Given the description of an element on the screen output the (x, y) to click on. 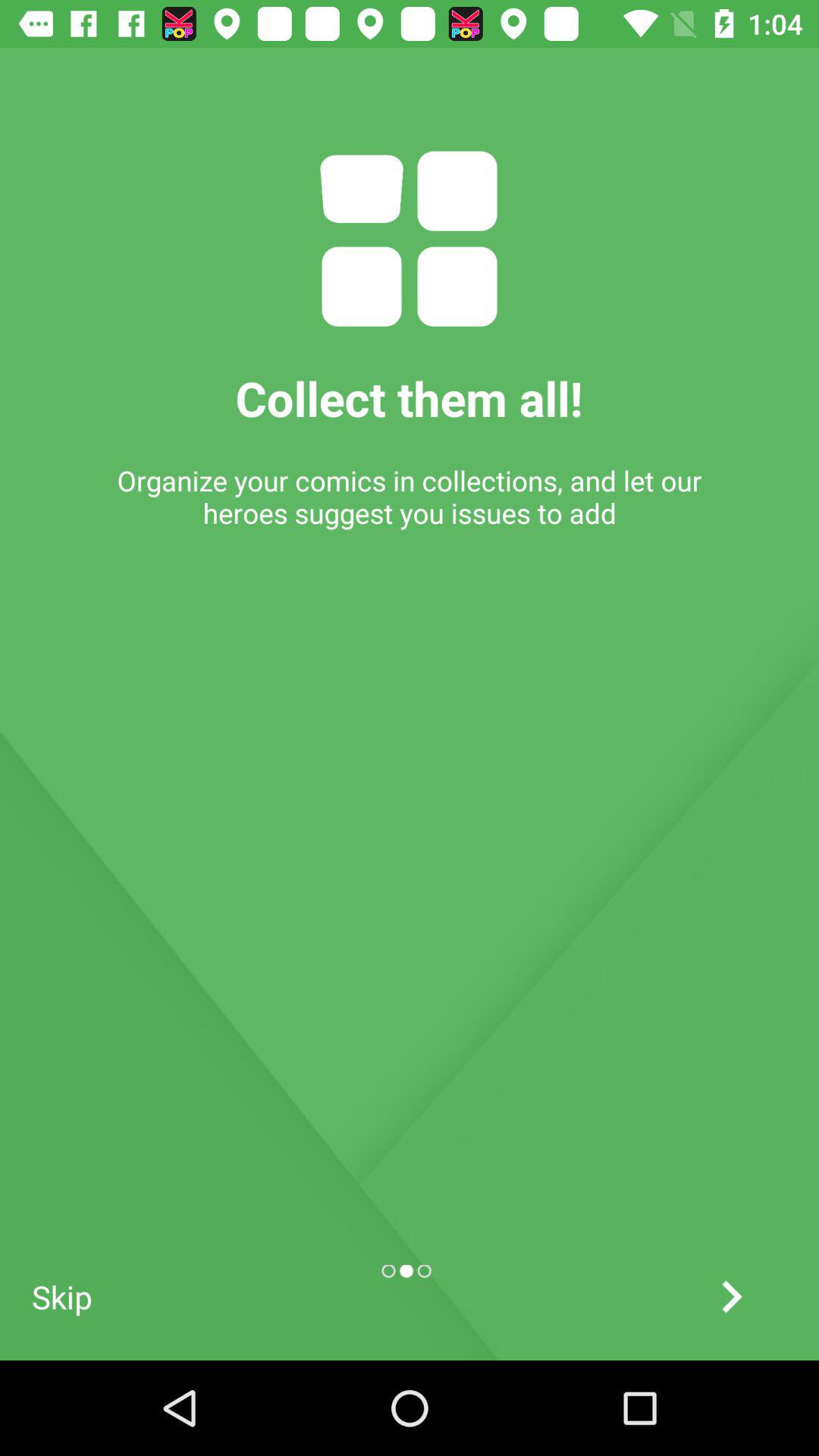
swipe right (731, 1296)
